Given the description of an element on the screen output the (x, y) to click on. 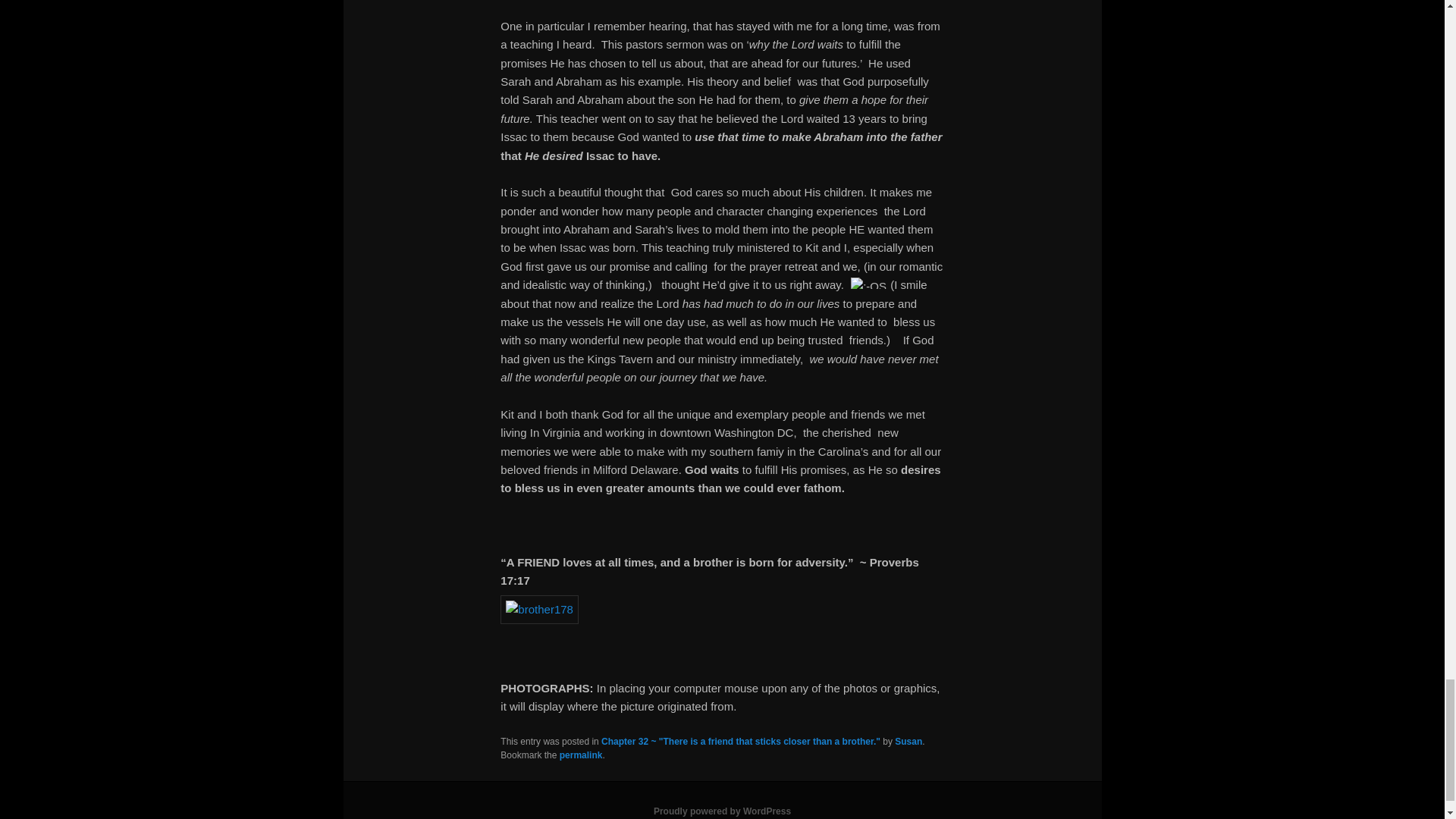
permalink (580, 755)
Susan (908, 741)
Proudly powered by WordPress (721, 810)
